Given the description of an element on the screen output the (x, y) to click on. 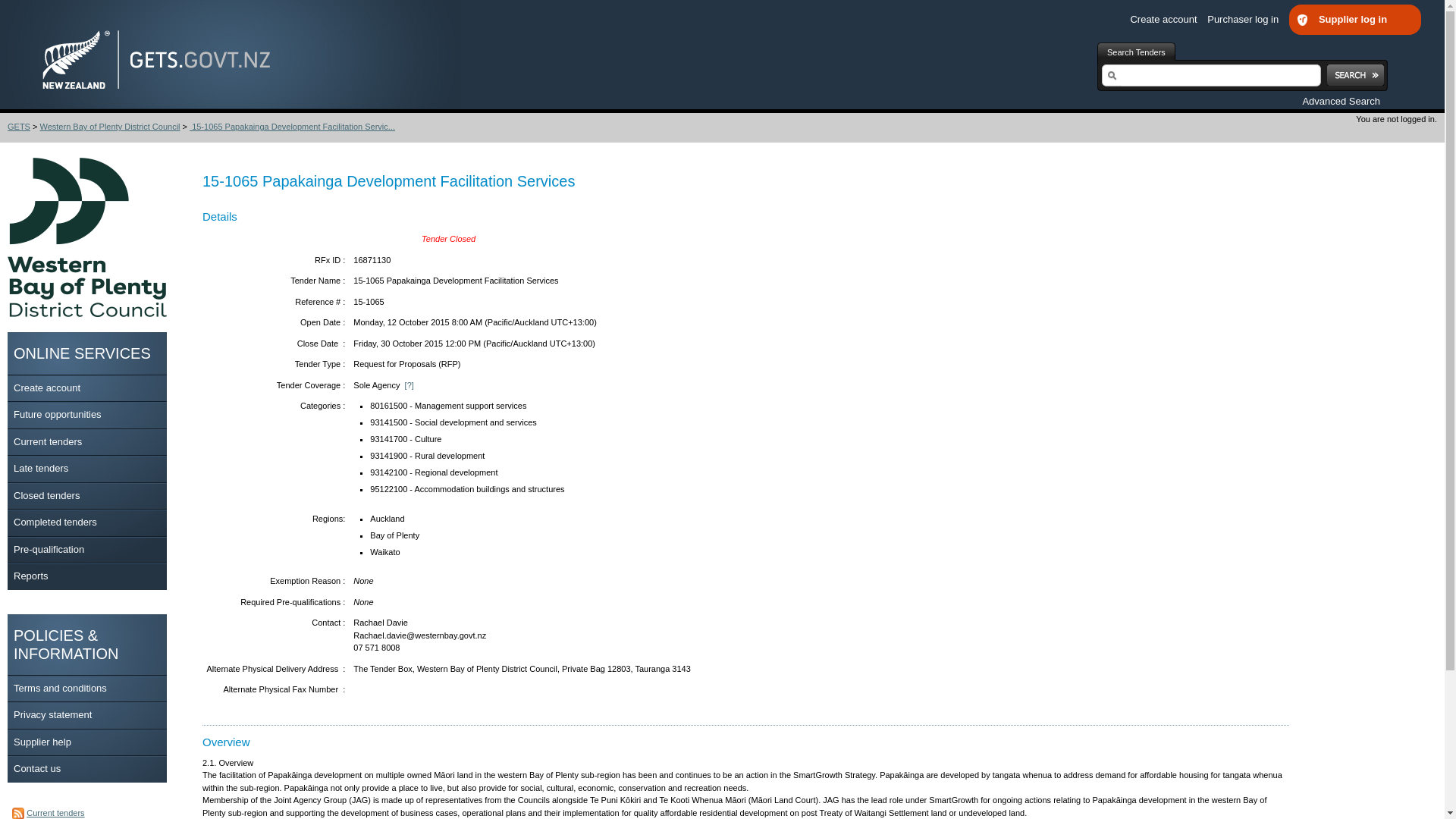
Terms and Conditions (59, 687)
Privacy statement (52, 714)
List of recently completed tenders (55, 521)
Terms and conditions (59, 687)
15-1065 Papakainga Development Facilitation Servic... (291, 126)
List of recently closed tenders (46, 495)
Reports (30, 575)
Western Bay of Plenty District Council (109, 126)
Current tenders (47, 440)
Contact us (37, 767)
Purchaser log in (1247, 19)
Pre-qualification (48, 548)
Reports (30, 575)
List of open tenders (47, 440)
Supplier log in (1358, 19)
